Given the description of an element on the screen output the (x, y) to click on. 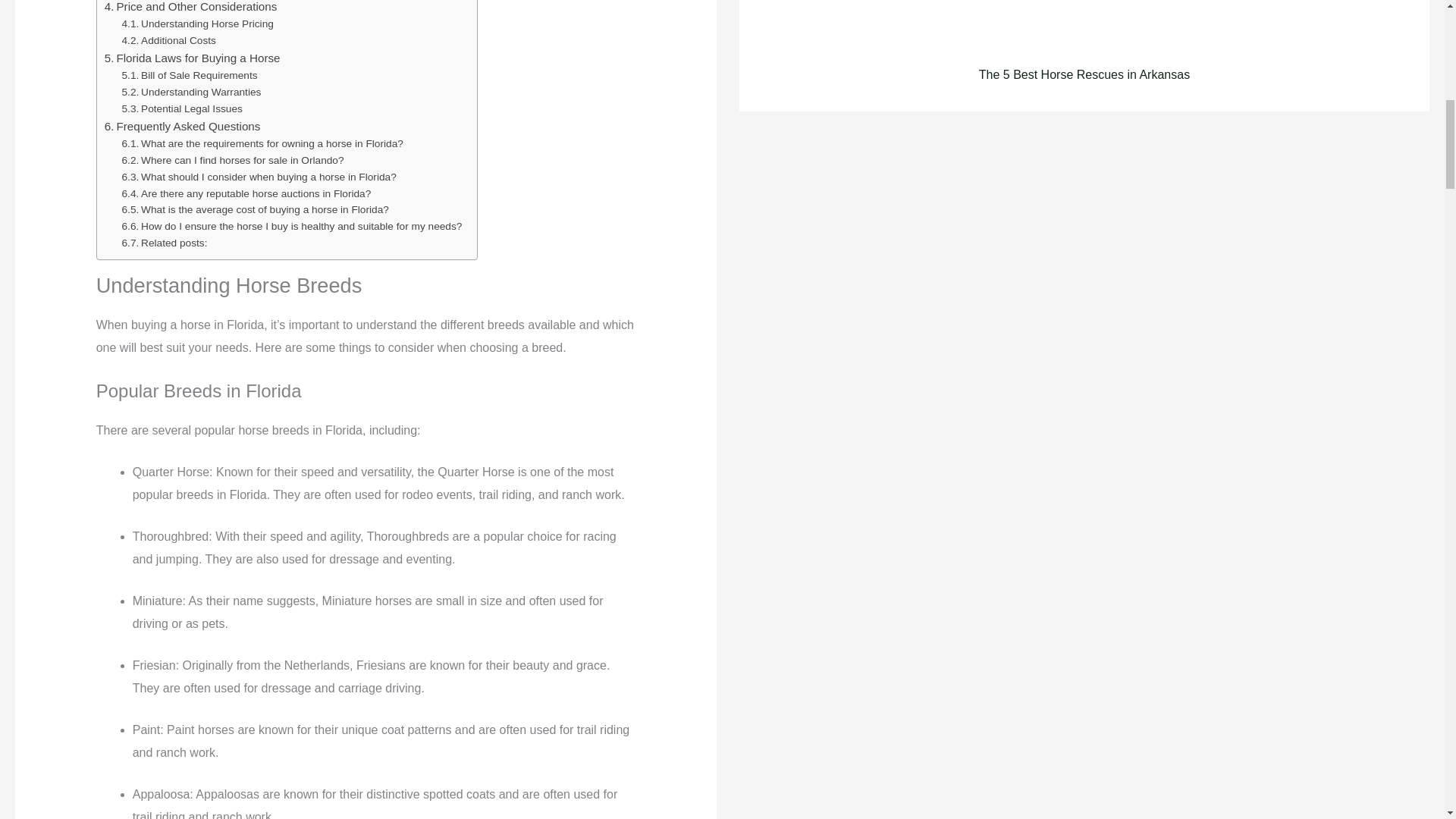
Bill of Sale Requirements (189, 75)
Florida Laws for Buying a Horse (192, 58)
Florida Laws for Buying a Horse (192, 58)
Understanding Horse Pricing (197, 23)
Additional Costs (168, 40)
Understanding Horse Pricing (197, 23)
Additional Costs (168, 40)
Frequently Asked Questions (182, 126)
Potential Legal Issues (182, 108)
Understanding Warranties (192, 92)
